Given the description of an element on the screen output the (x, y) to click on. 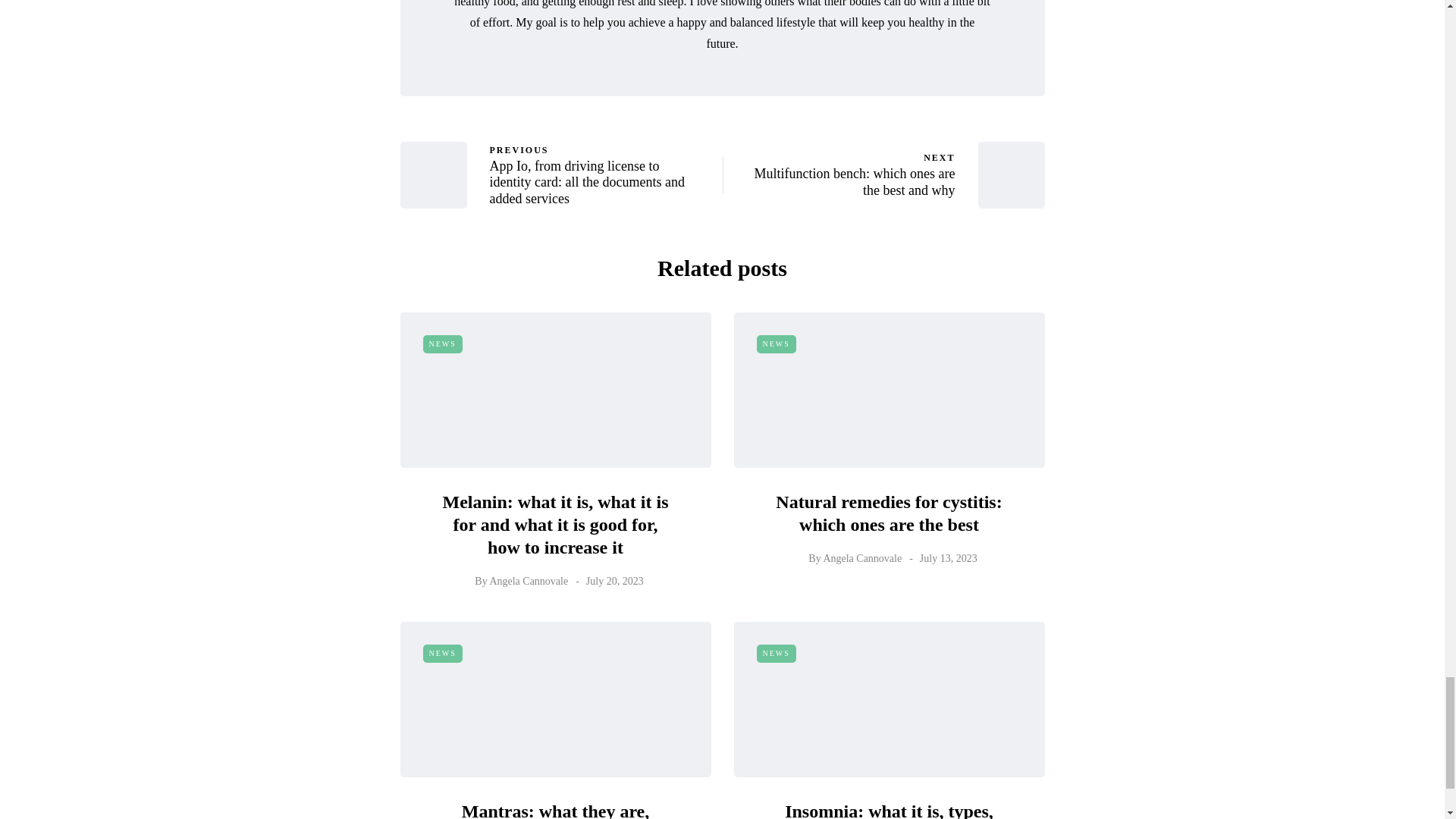
NEWS (838, 174)
Posts by Angela Cannovale (776, 343)
NEWS (528, 581)
Natural remedies for cystitis: which ones are the best (443, 343)
Posts by Angela Cannovale (888, 513)
NEWS (861, 558)
